Given the description of an element on the screen output the (x, y) to click on. 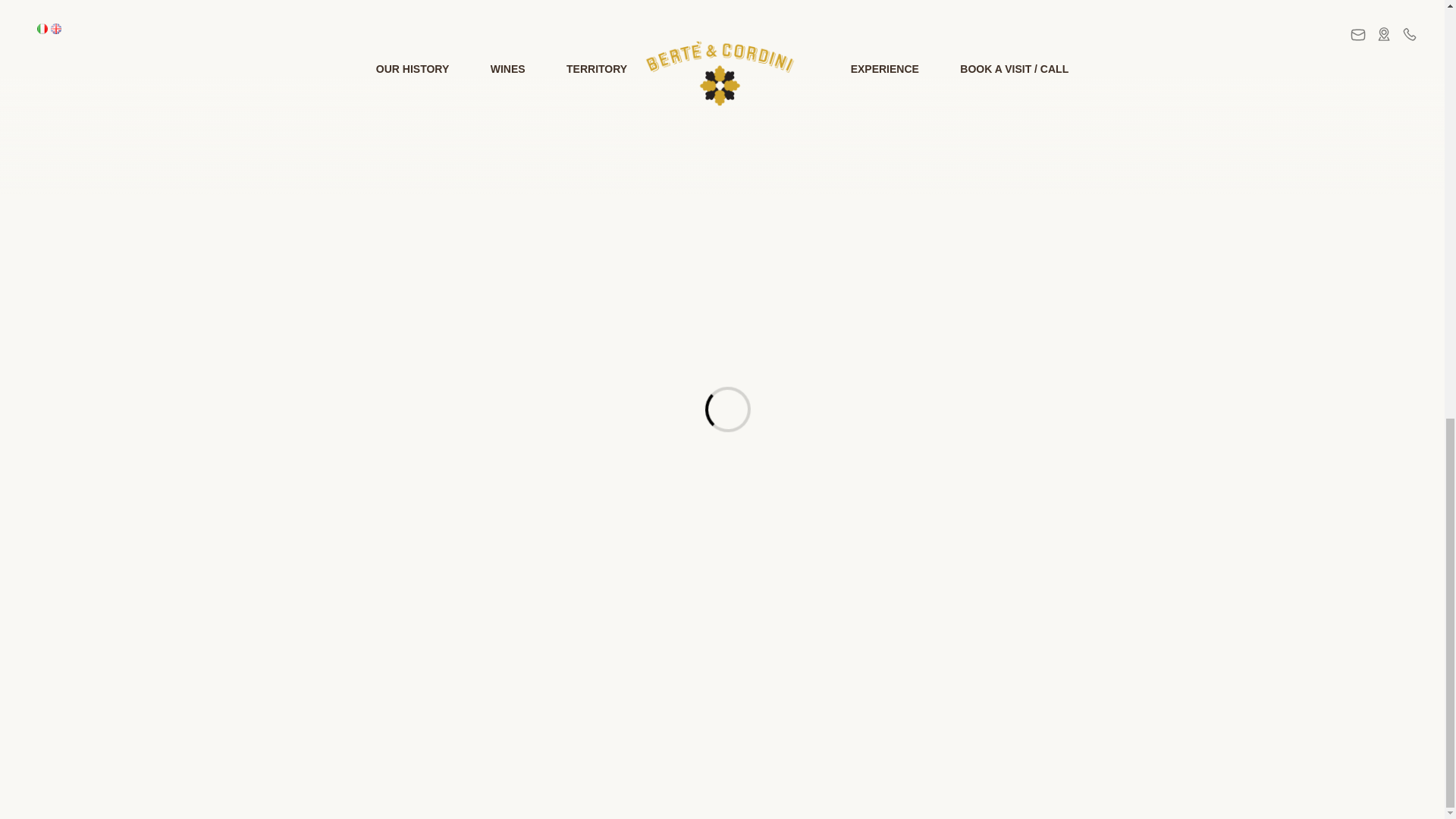
TERRITORY (695, 494)
Marchetti Design (1082, 732)
Privacy Policy (807, 732)
WINES (628, 494)
EXPERIENCE (778, 494)
OUR HISTORY (555, 494)
CONTACT US (953, 175)
Cookie Policy (882, 732)
